Given the description of an element on the screen output the (x, y) to click on. 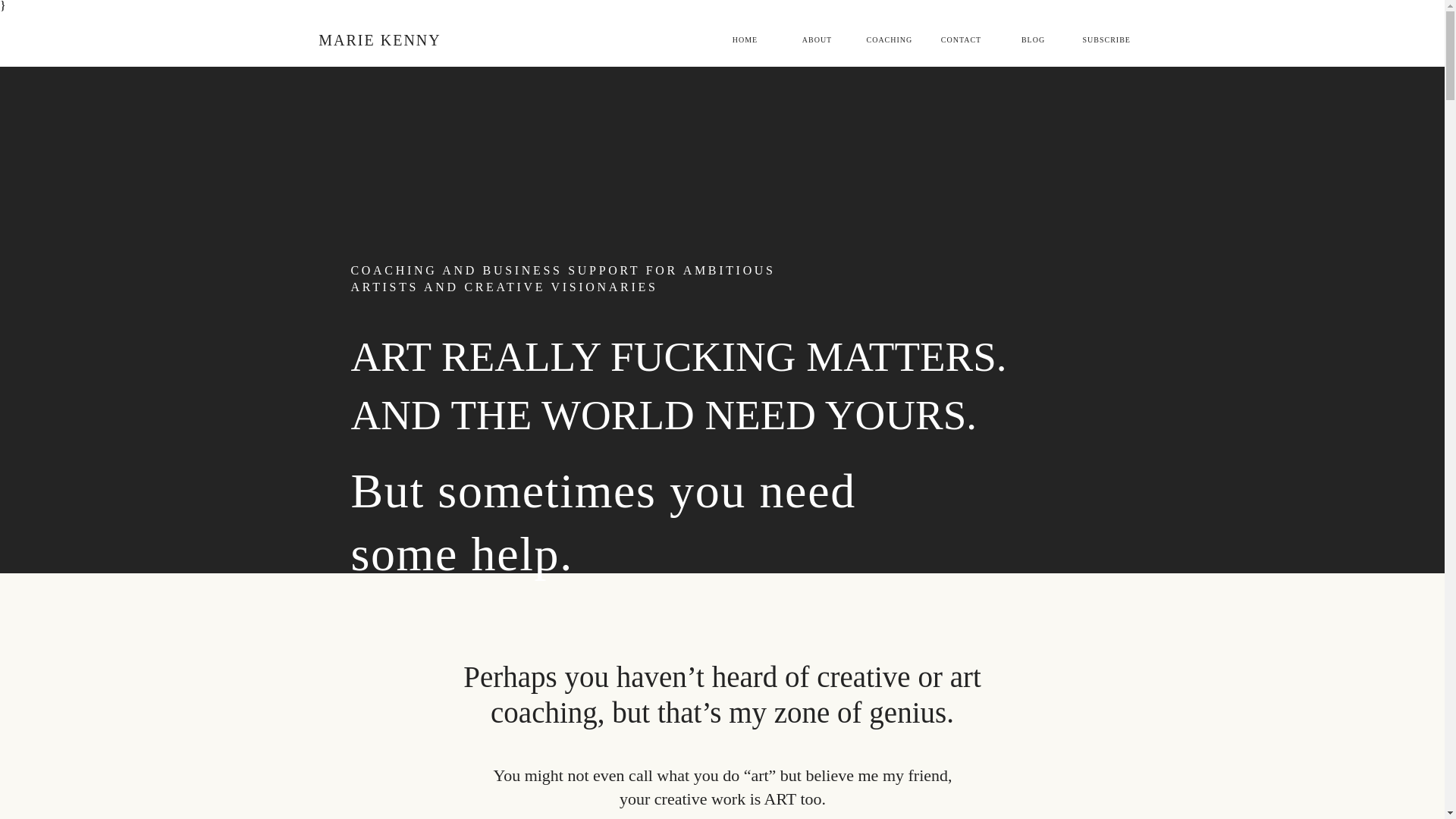
BLOG (1032, 39)
ABOUT (817, 39)
CONTACT (961, 39)
COACHING (888, 39)
SUBSCRIBE (1105, 39)
MARIE KENNY (379, 39)
HOME (744, 39)
